Given the description of an element on the screen output the (x, y) to click on. 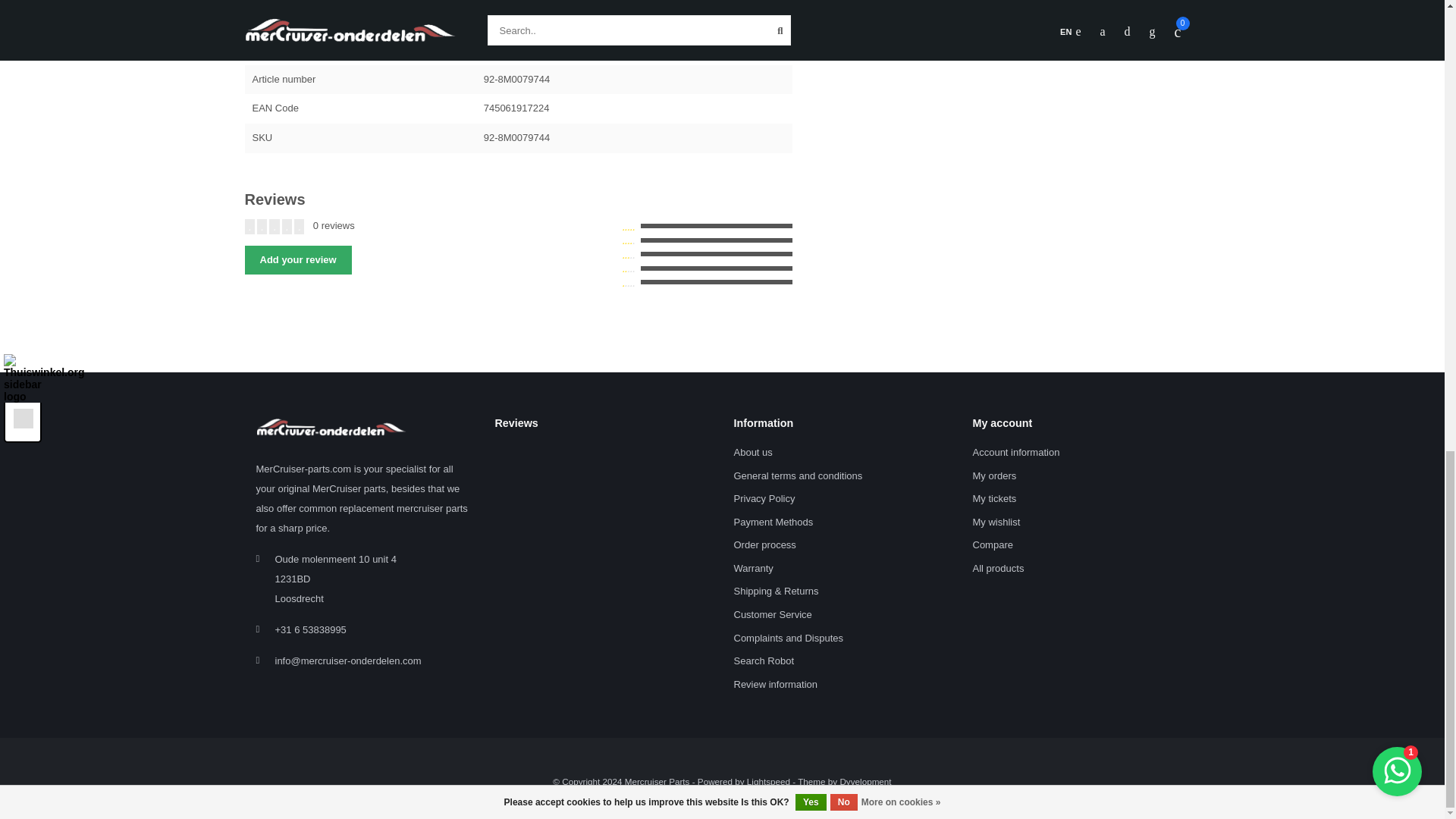
Privacy Policy (763, 499)
Order process (764, 545)
Payment Methods (773, 522)
About us (753, 453)
General terms and conditions (798, 476)
